Given the description of an element on the screen output the (x, y) to click on. 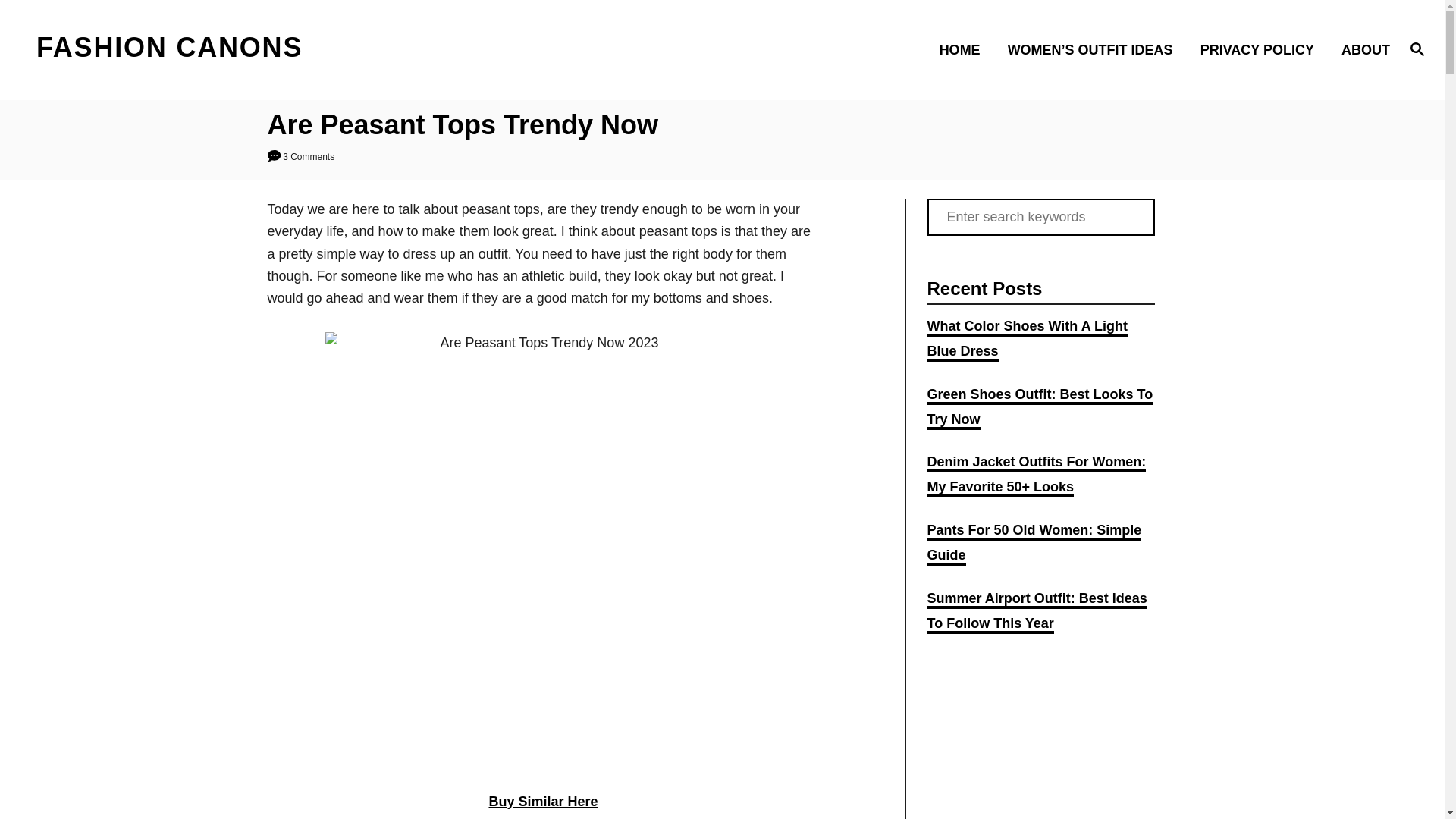
Buy Similar Here (541, 801)
PRIVACY POLICY (1261, 49)
HOME (964, 49)
ABOUT (1361, 49)
Magnifying Glass (1416, 48)
FASHION CANONS (204, 49)
Fashion Canons (204, 49)
